Given the description of an element on the screen output the (x, y) to click on. 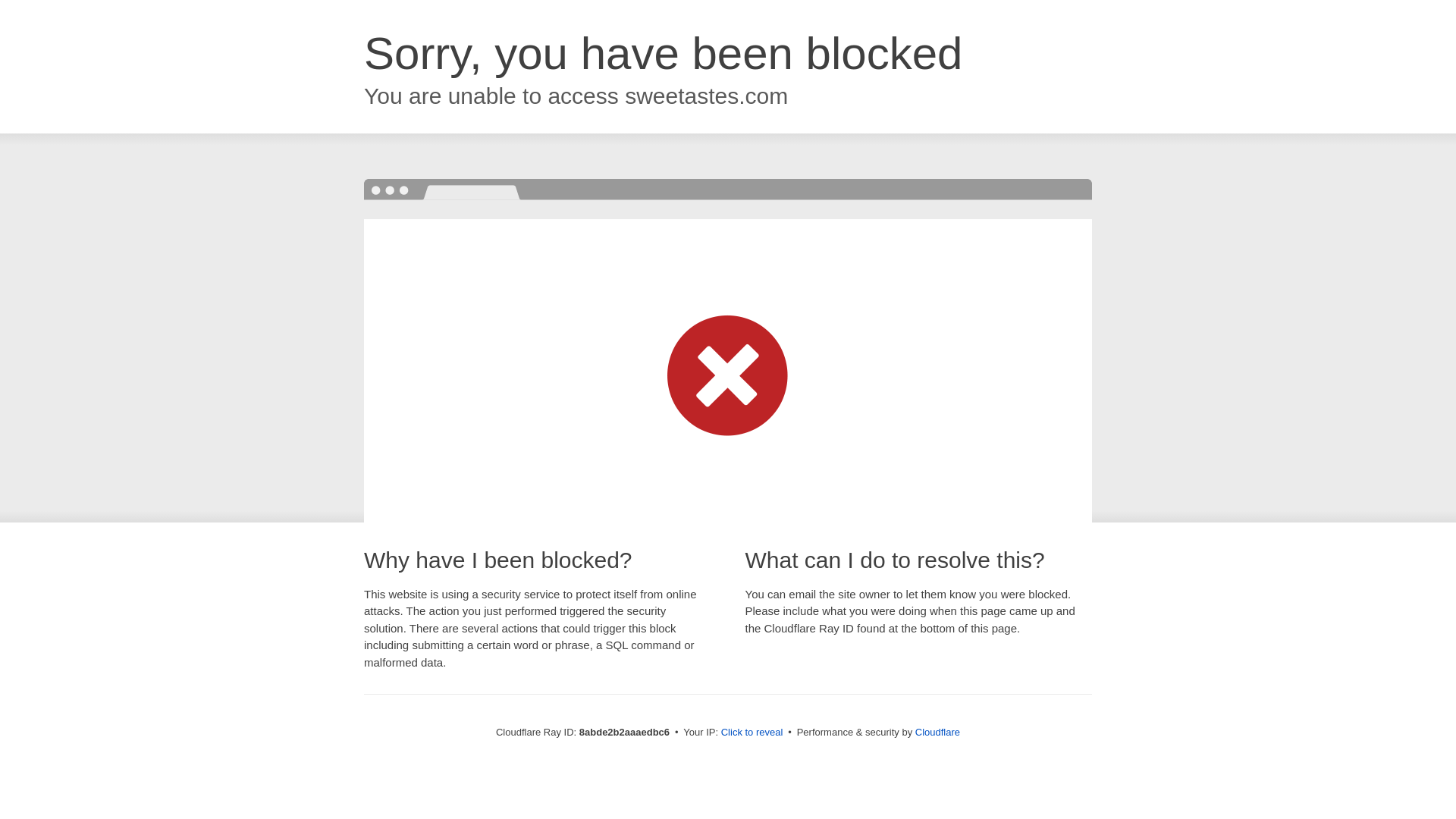
Click to reveal (751, 732)
Cloudflare (937, 731)
